Given the description of an element on the screen output the (x, y) to click on. 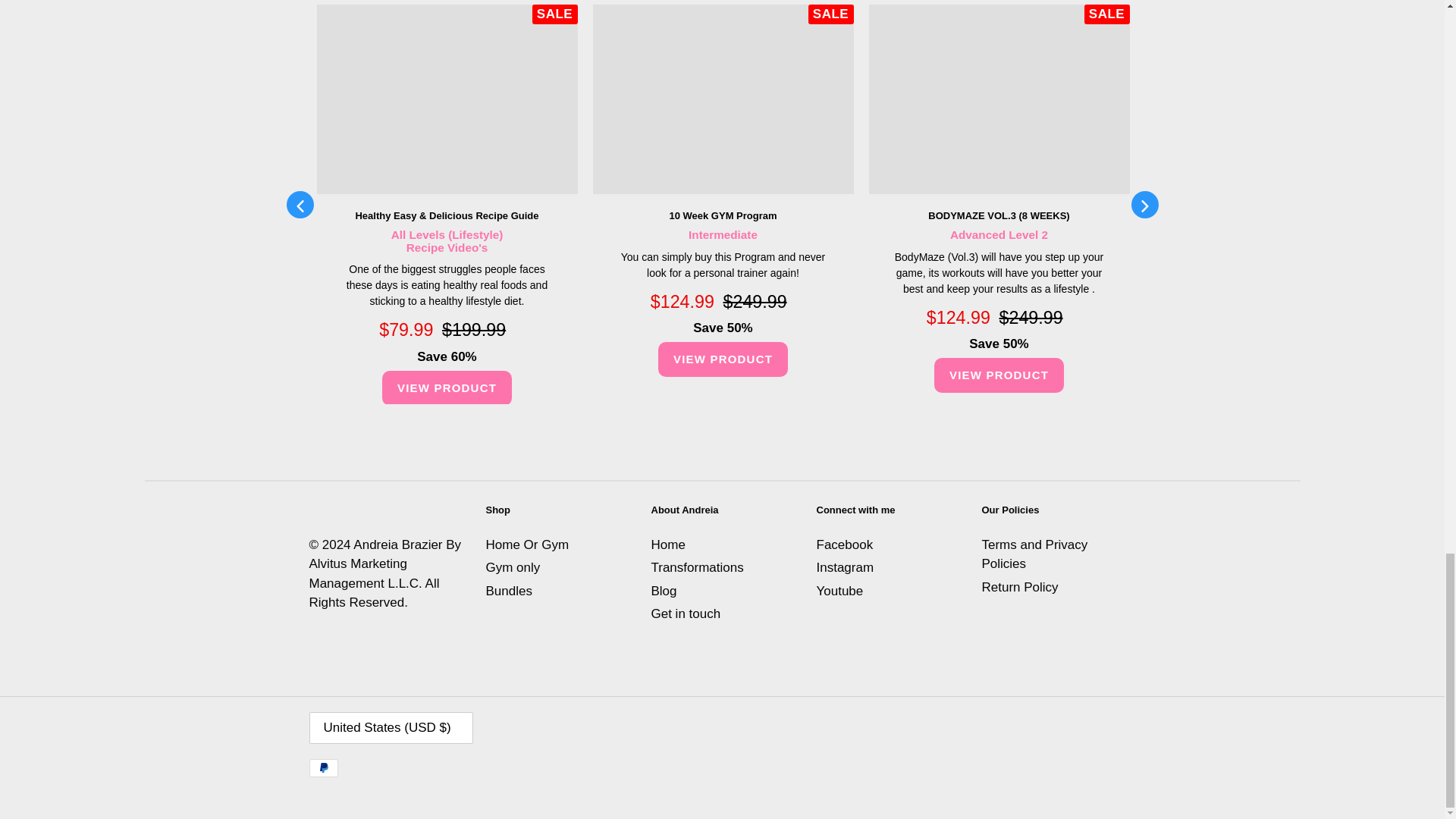
VIEW PRODUCT (999, 375)
Home Or Gym (526, 544)
VIEW PRODUCT (446, 388)
VIEW PRODUCT (722, 359)
